Given the description of an element on the screen output the (x, y) to click on. 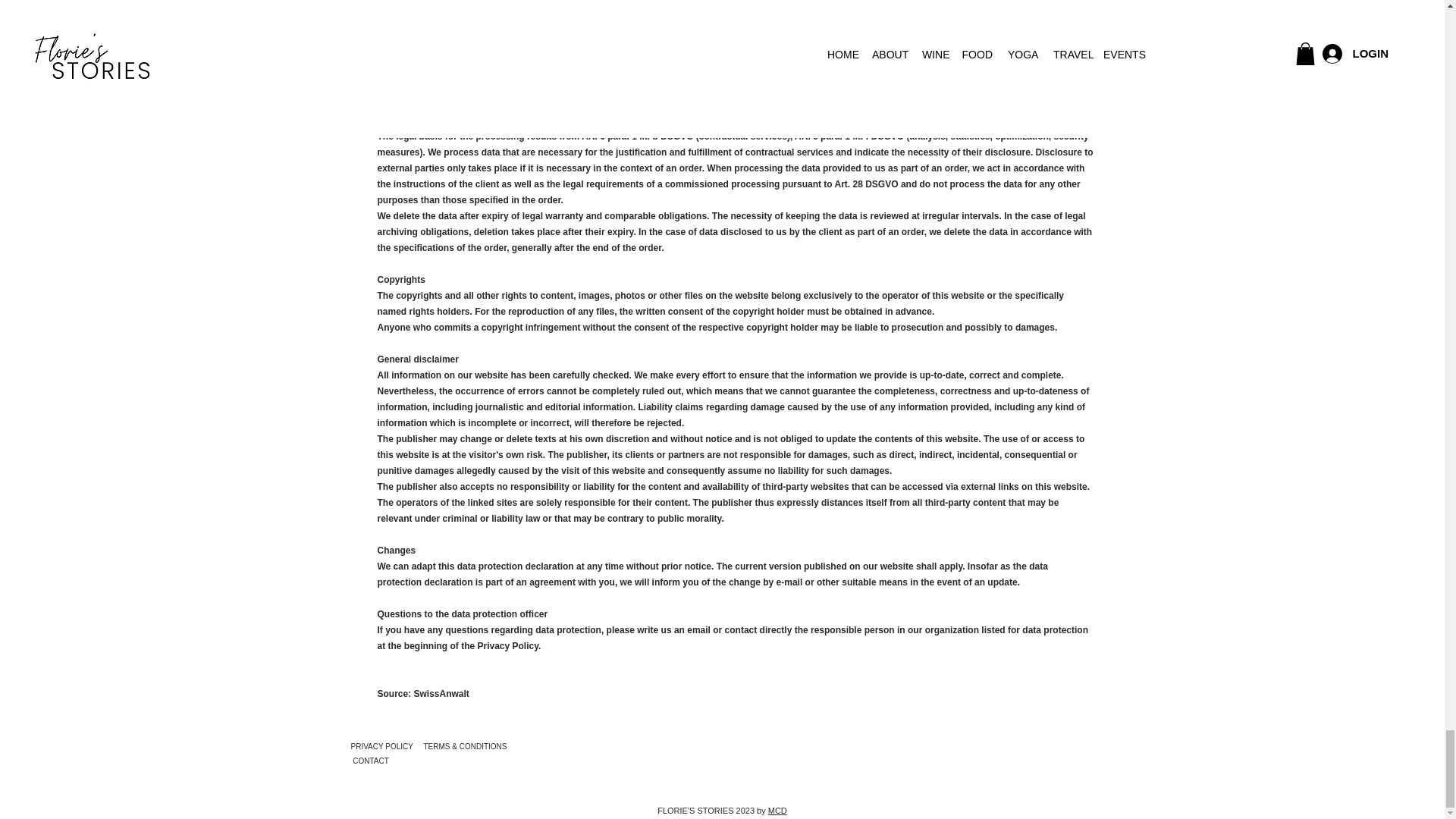
PRIVACY POLICY  (382, 746)
CONTACT (370, 760)
